Given the description of an element on the screen output the (x, y) to click on. 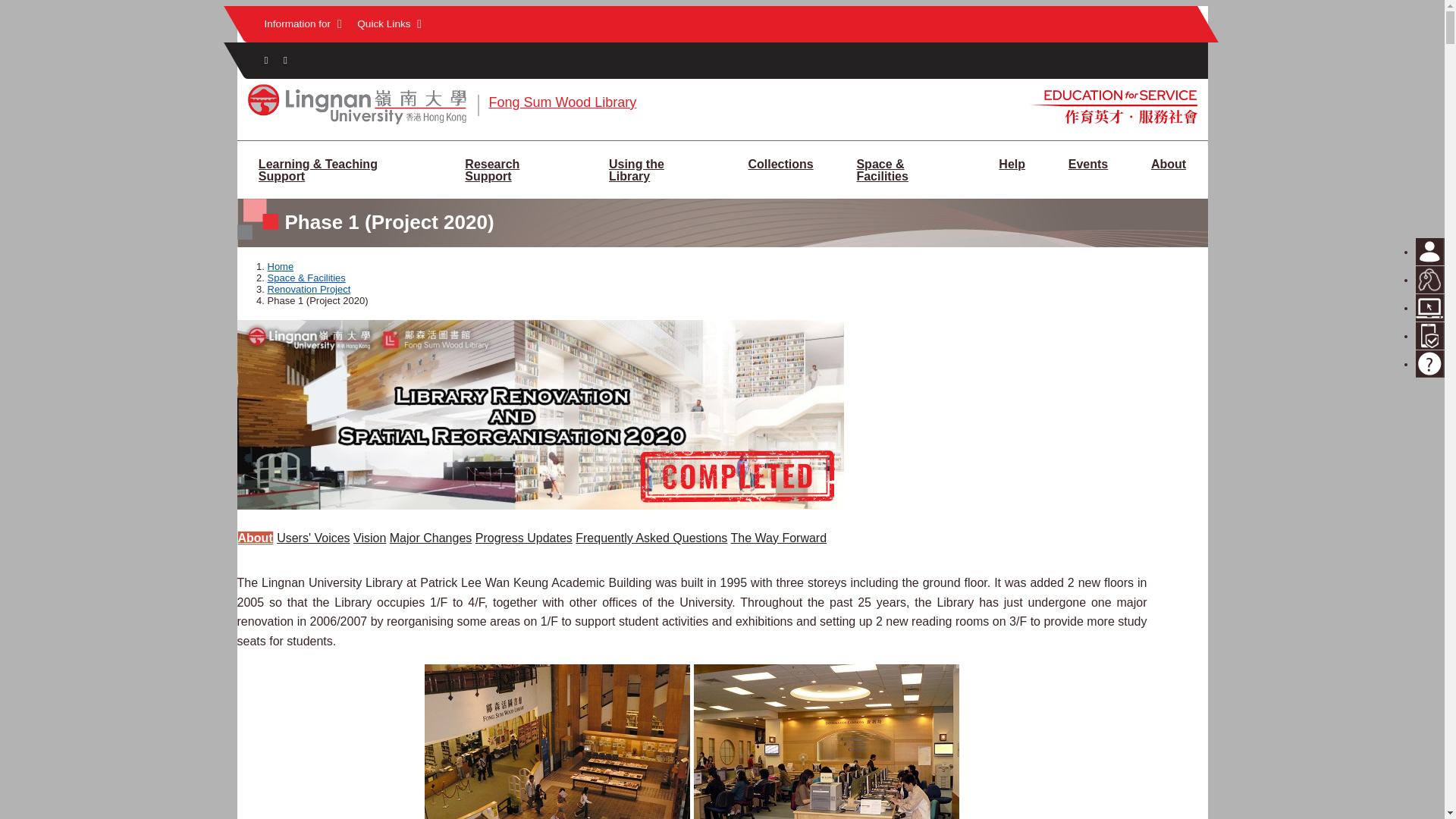
Quick Links (389, 23)
Information for (301, 23)
Fong Sum Wood Library (561, 102)
Lingnan University (356, 123)
Fong Sum Wood Library (561, 102)
Skip to main content (722, 7)
